Given the description of an element on the screen output the (x, y) to click on. 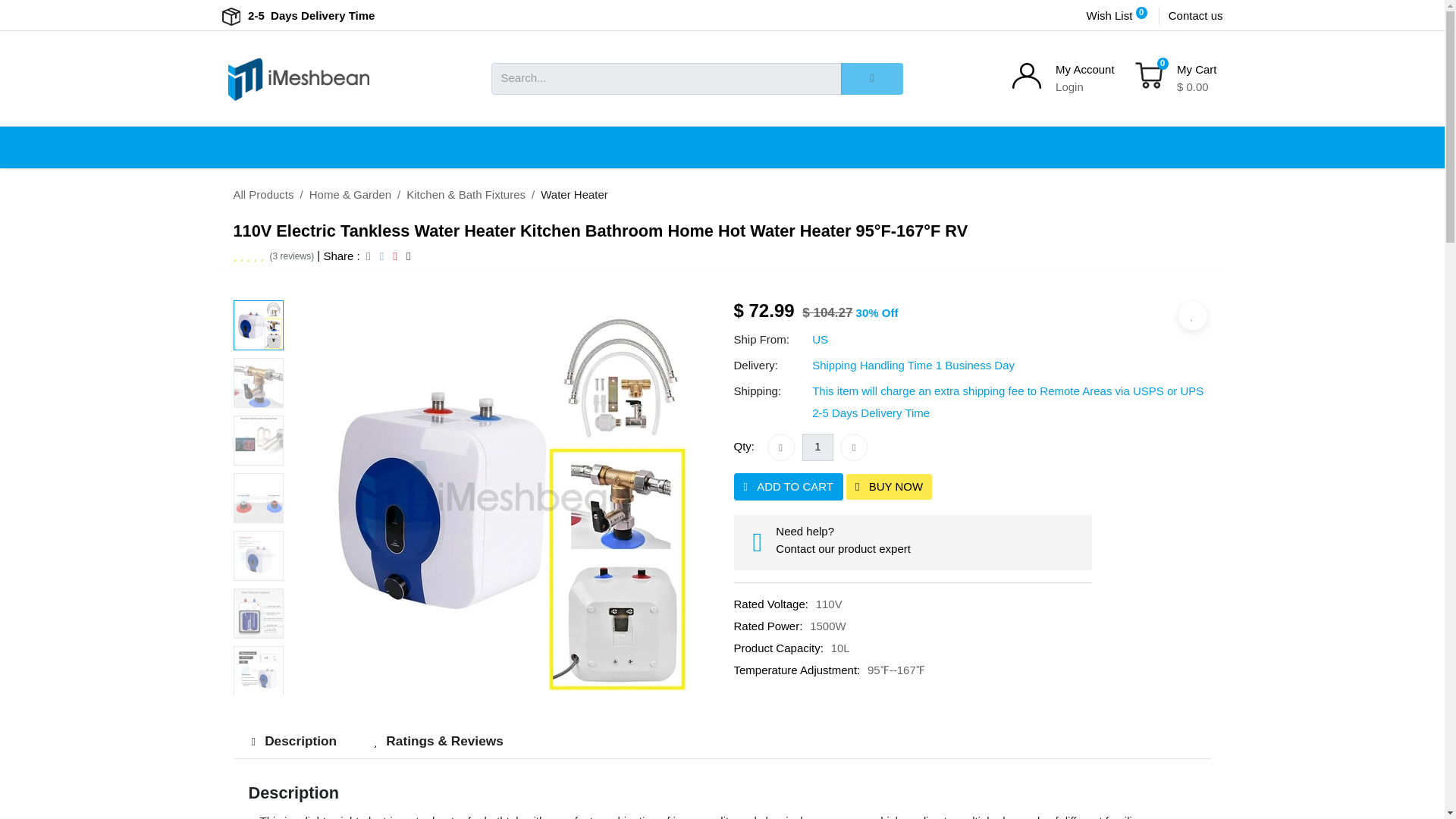
iMeshbean (298, 77)
Add to wishlist (1191, 315)
Search (871, 79)
Wish List 0 (1117, 16)
Remove one (780, 447)
Contact us (1196, 16)
My Account (1085, 69)
Login (1069, 86)
5.0 (273, 256)
Add one (853, 447)
